Given the description of an element on the screen output the (x, y) to click on. 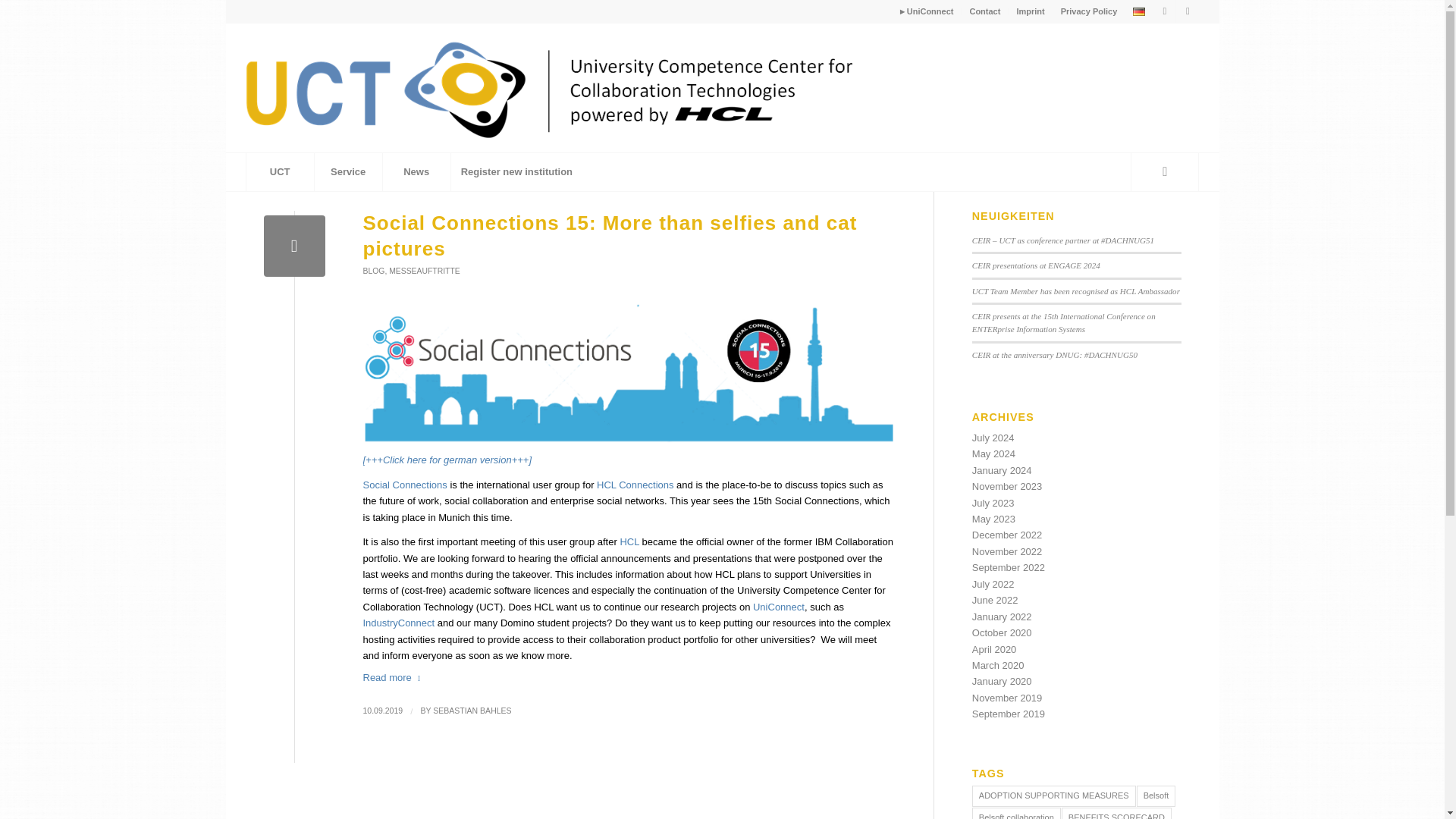
BLOG (373, 270)
HCL Connections (634, 484)
Social Connections 15: More than selfies and cat pictures (609, 235)
IndustryConnect (399, 622)
HCL (629, 541)
Social Connections 15: More than selfies and cat pictures (293, 245)
MESSEAUFTRITTE (424, 270)
Read more (394, 677)
SEBASTIAN BAHLES (471, 709)
UCT (280, 171)
Social Connections (405, 484)
Homepage Header Logo (575, 87)
Register new institution (515, 171)
UniConnect (778, 606)
